Given the description of an element on the screen output the (x, y) to click on. 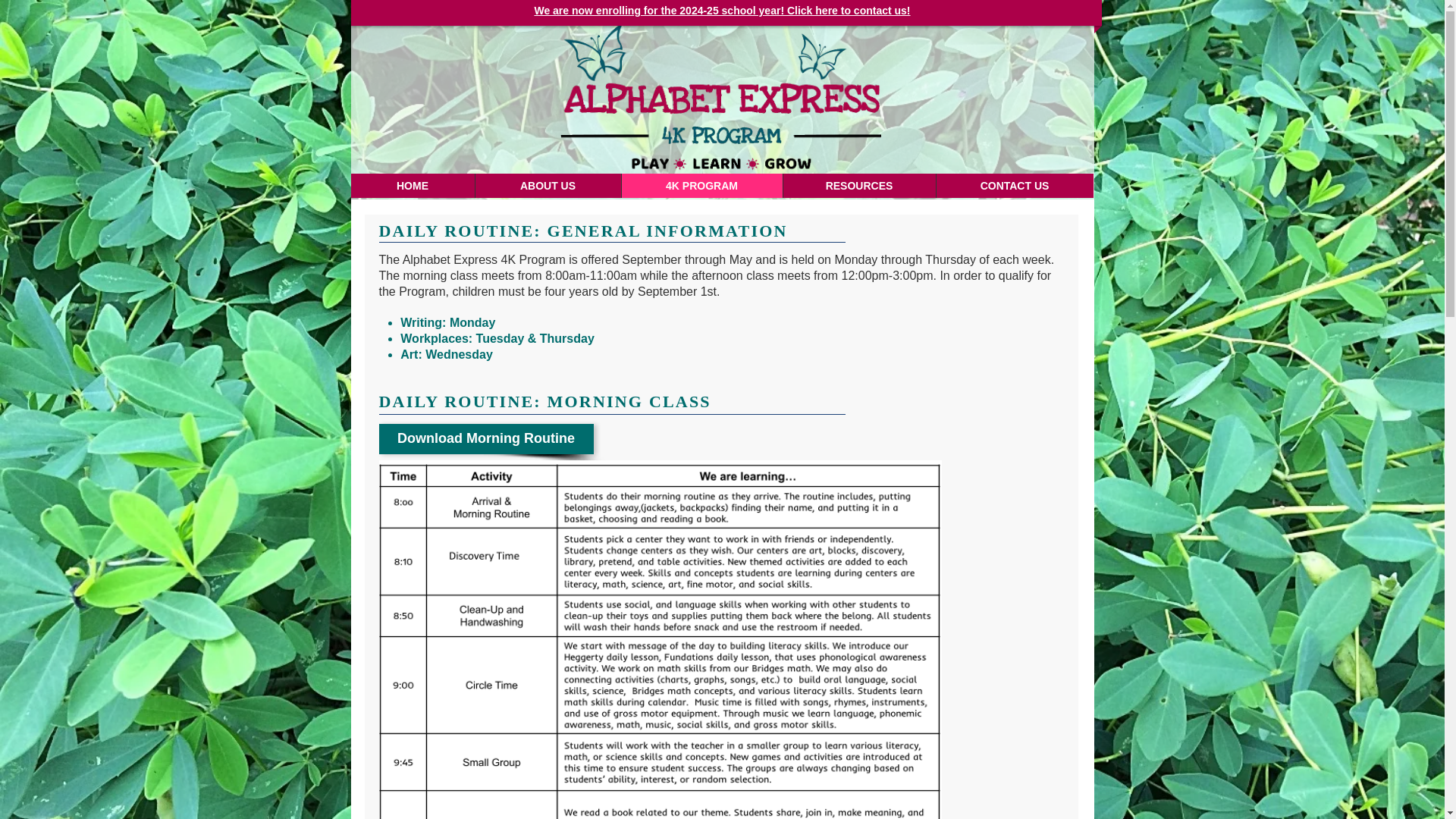
4K PROGRAM (700, 185)
RESOURCES (859, 185)
CONTACT US (1014, 185)
HOME (412, 185)
Download Morning Routine (486, 439)
ABOUT US (547, 185)
